Given the description of an element on the screen output the (x, y) to click on. 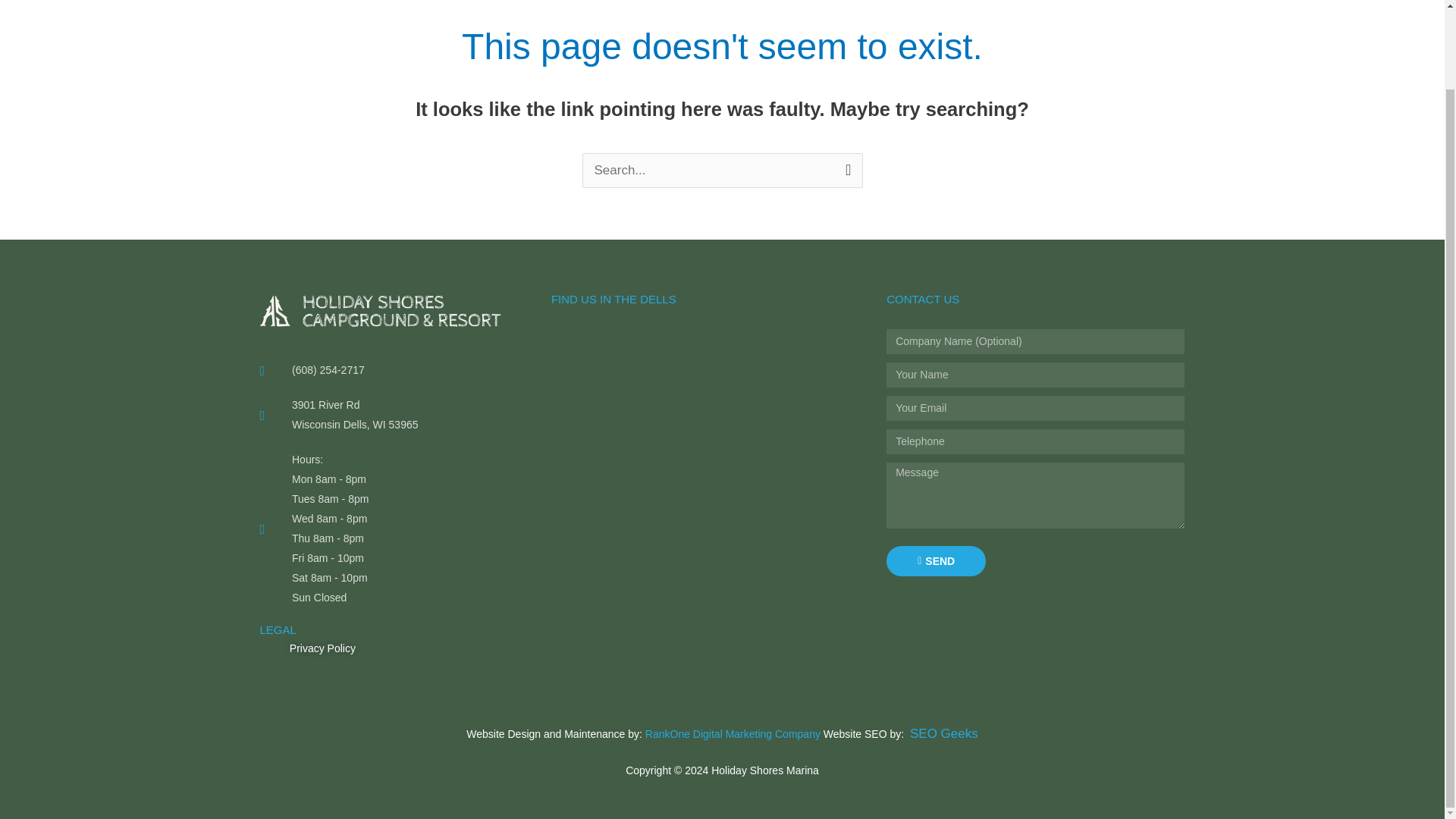
Search (844, 169)
Search (844, 169)
Search (844, 169)
